Given the description of an element on the screen output the (x, y) to click on. 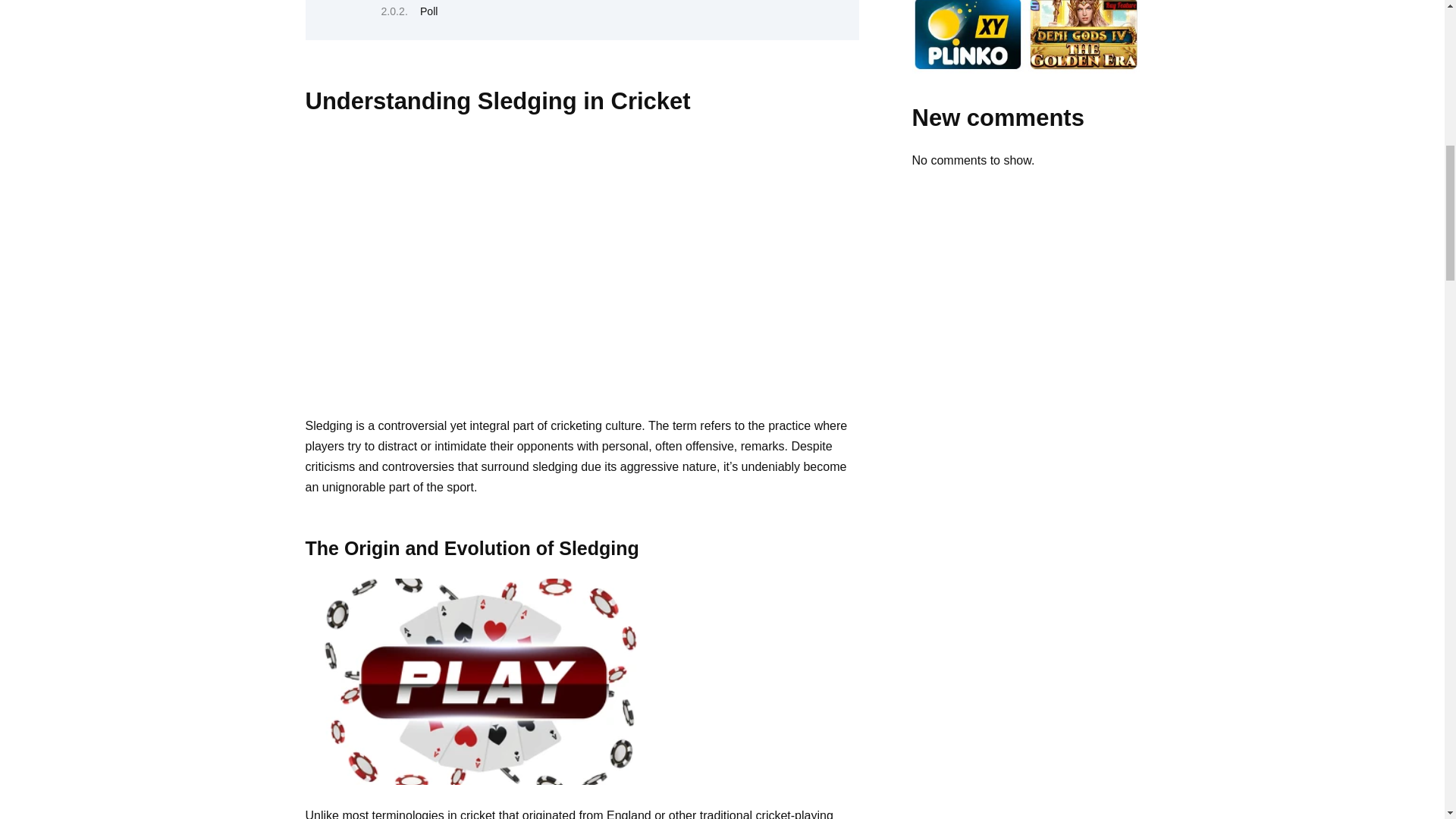
Poll (429, 10)
